Given the description of an element on the screen output the (x, y) to click on. 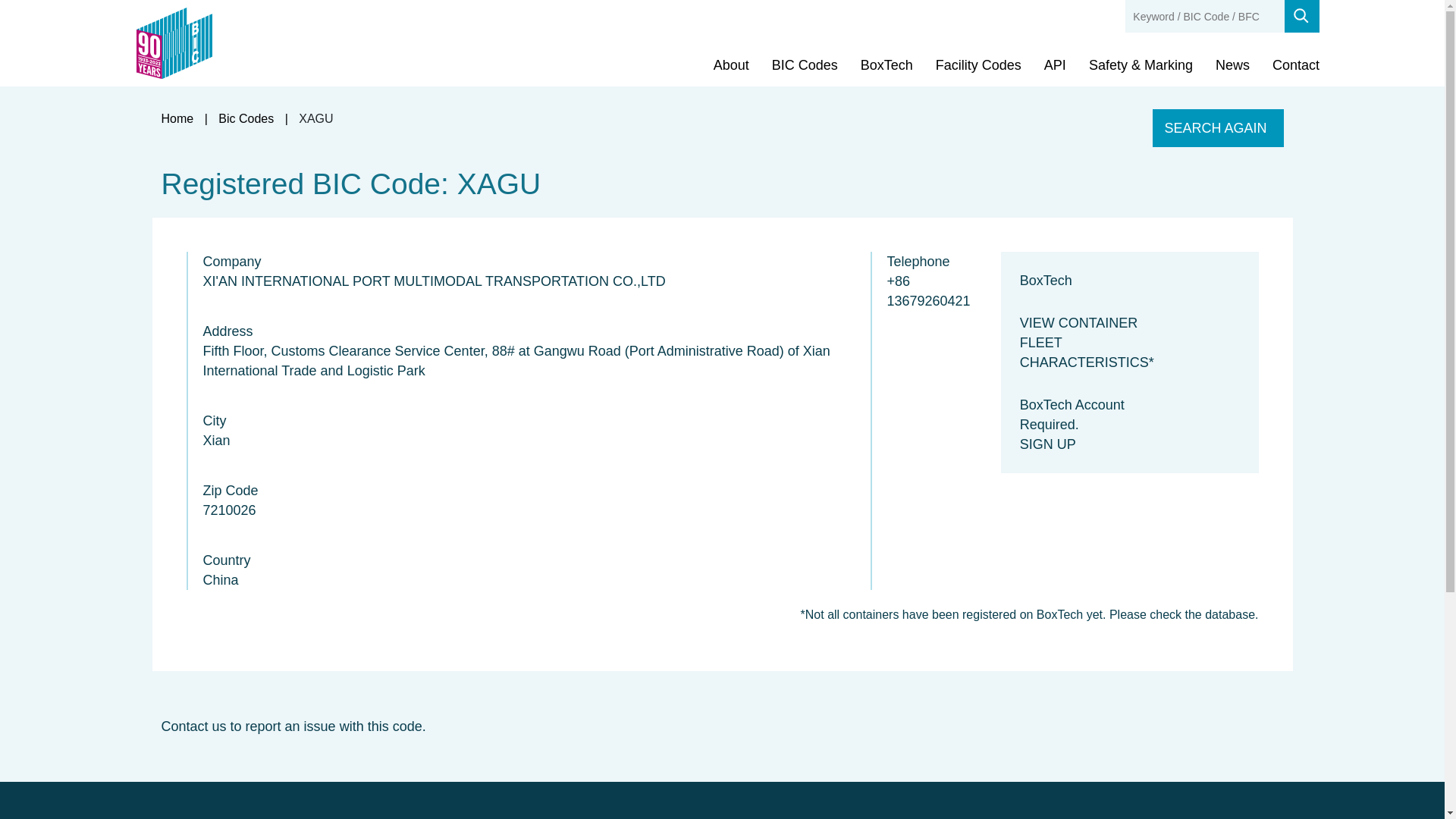
BIC Codes (804, 64)
Home (176, 118)
About (731, 64)
Search Results (315, 118)
Search for: (1204, 16)
API (1054, 64)
Bic Codes (245, 118)
Facility Codes (979, 64)
BoxTech (886, 64)
